Given the description of an element on the screen output the (x, y) to click on. 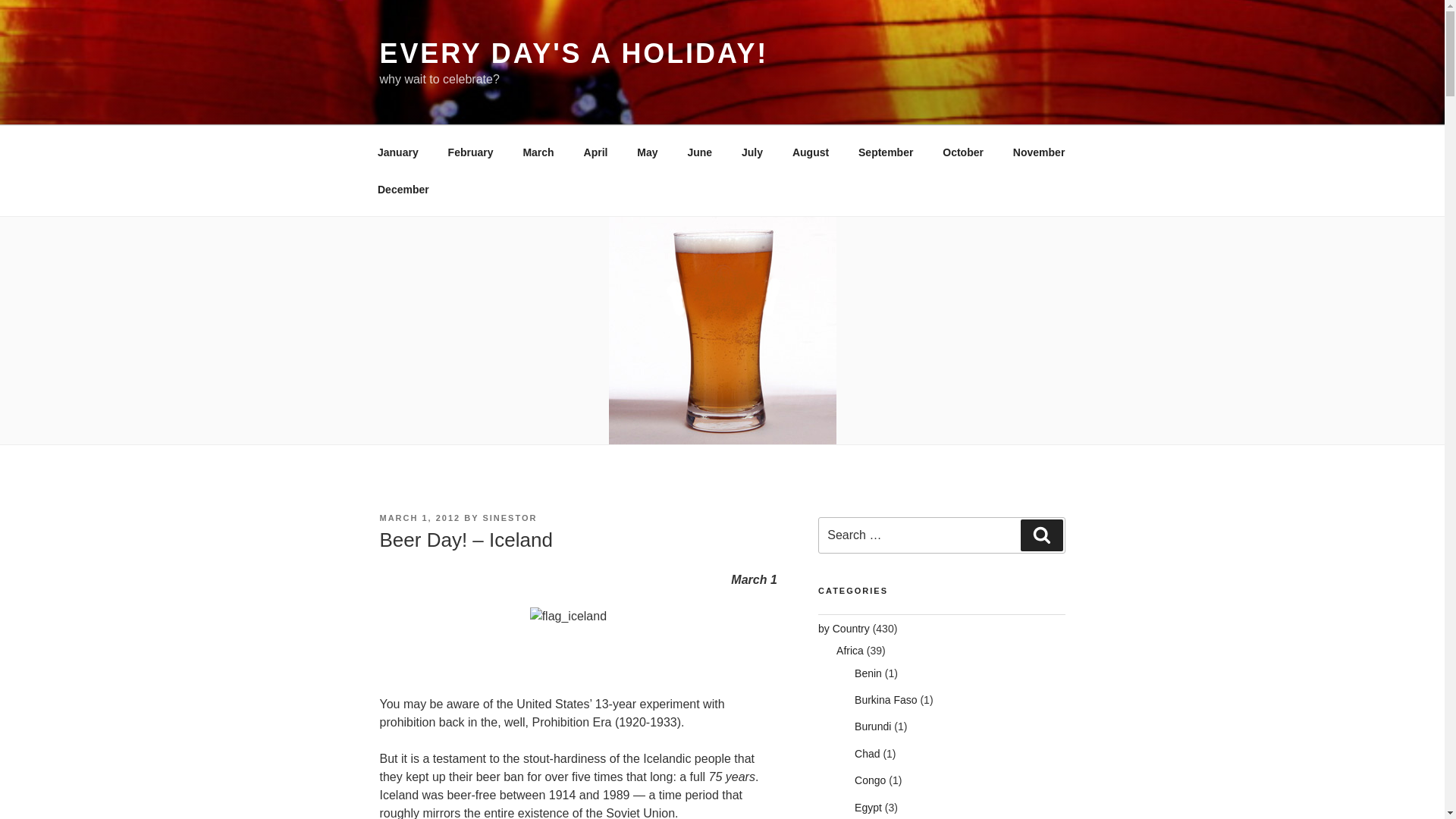
Africa (849, 650)
January (397, 151)
February (469, 151)
November (1037, 151)
May (647, 151)
September (885, 151)
June (699, 151)
April (595, 151)
December (403, 189)
SINESTOR (509, 517)
